Given the description of an element on the screen output the (x, y) to click on. 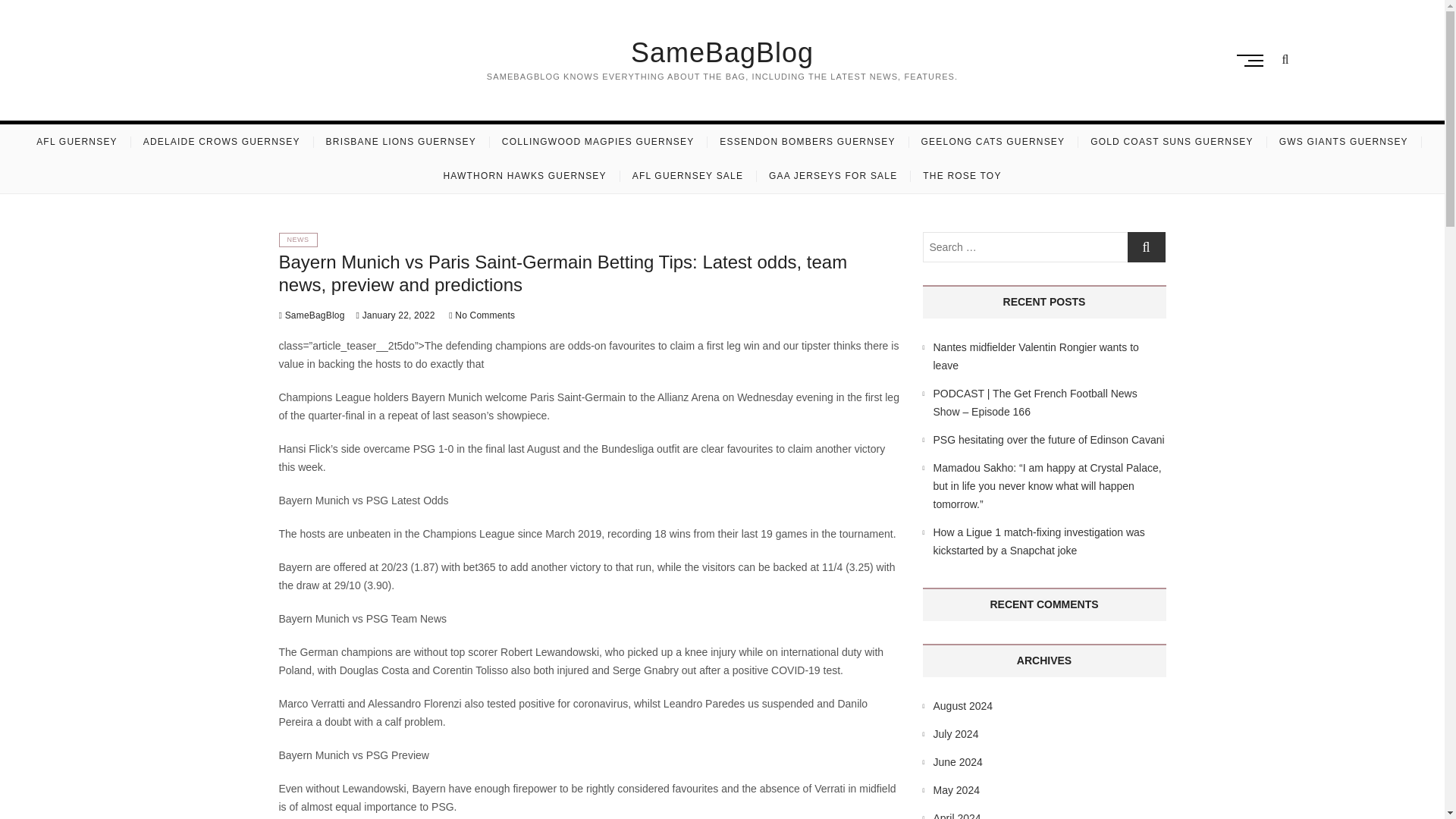
SameBagBlog (721, 52)
COLLINGWOOD MAGPIES GUERNSEY (598, 141)
SameBagBlog (721, 52)
ADELAIDE CROWS GUERNSEY (221, 141)
GAA JERSEYS FOR SALE (832, 175)
ESSENDON BOMBERS GUERNSEY (806, 141)
AFL GUERNSEY (76, 141)
GOLD COAST SUNS GUERNSEY (1171, 141)
AFL GUERNSEY SALE (687, 175)
